Given the description of an element on the screen output the (x, y) to click on. 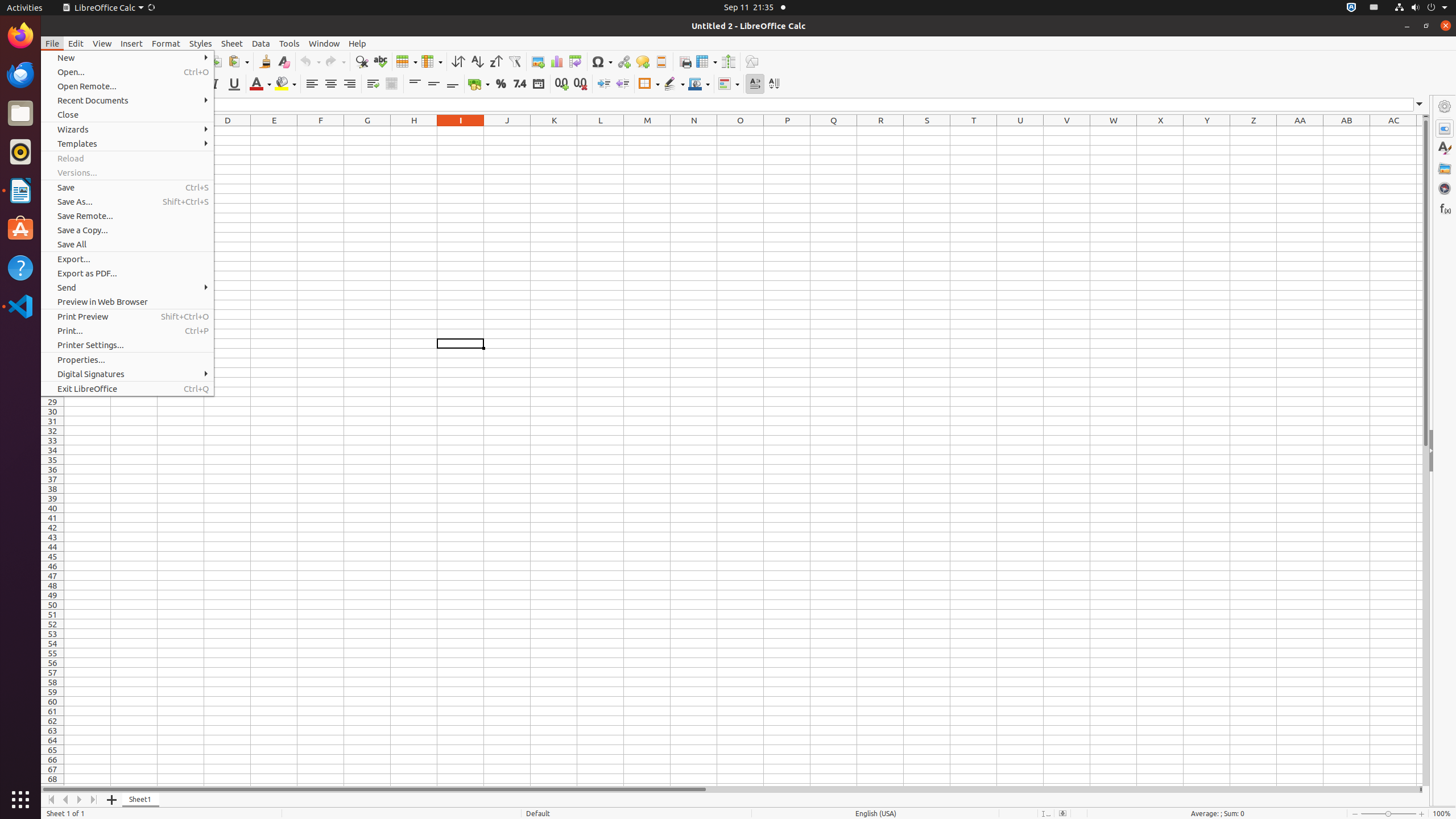
Vertical scroll bar Element type: scroll-bar (1425, 451)
Sort Element type: push-button (457, 61)
I1 Element type: table-cell (460, 130)
Increase Element type: push-button (603, 83)
Image Element type: push-button (537, 61)
